Given the description of an element on the screen output the (x, y) to click on. 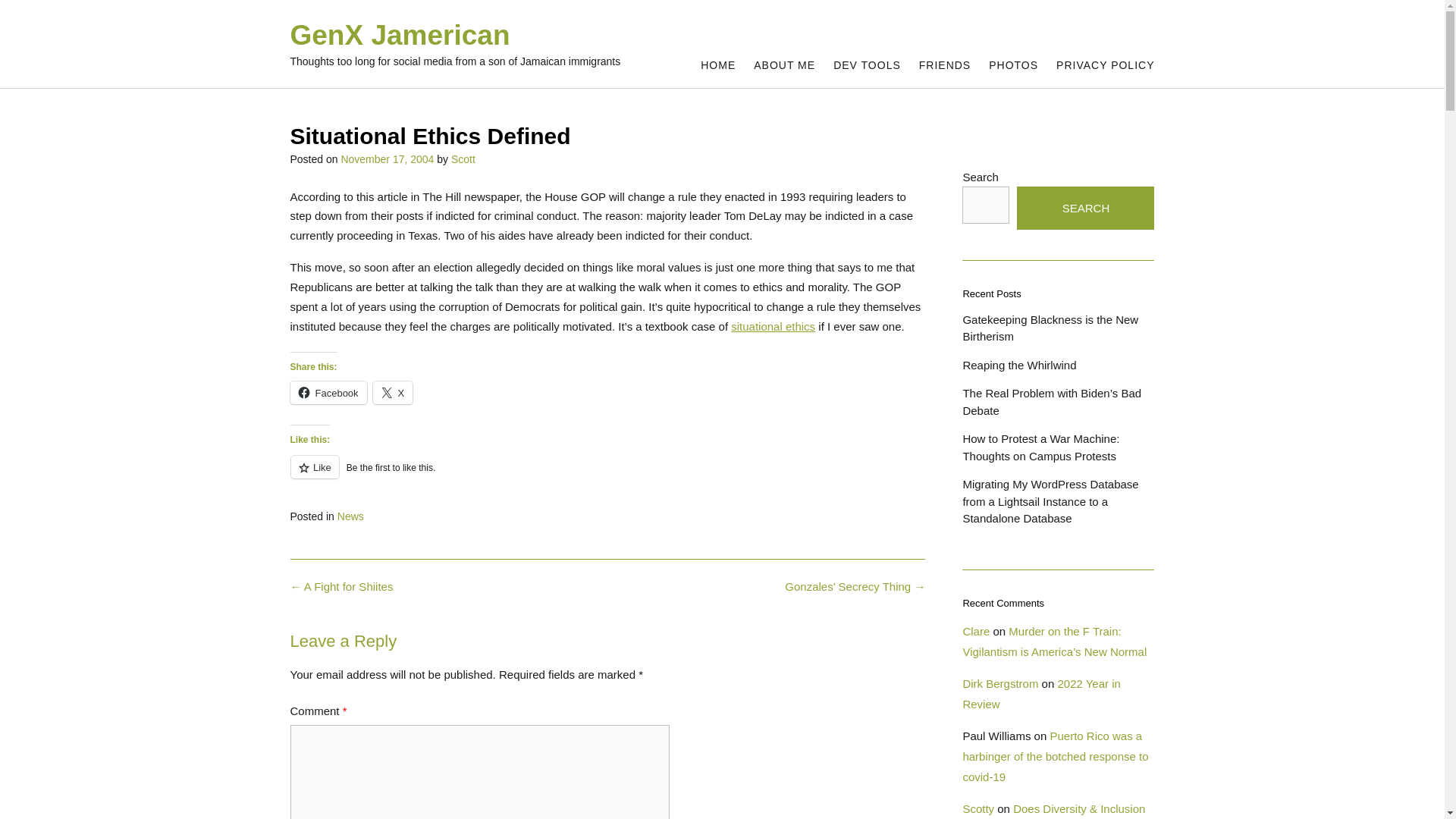
HOME (717, 65)
2022 Year in Review (1040, 693)
November 17, 2004 (386, 159)
Click to share on X (392, 392)
Facebook (327, 392)
Click to share on Facebook (327, 392)
PRIVACY POLICY (1105, 65)
SEARCH (1085, 208)
